Given the description of an element on the screen output the (x, y) to click on. 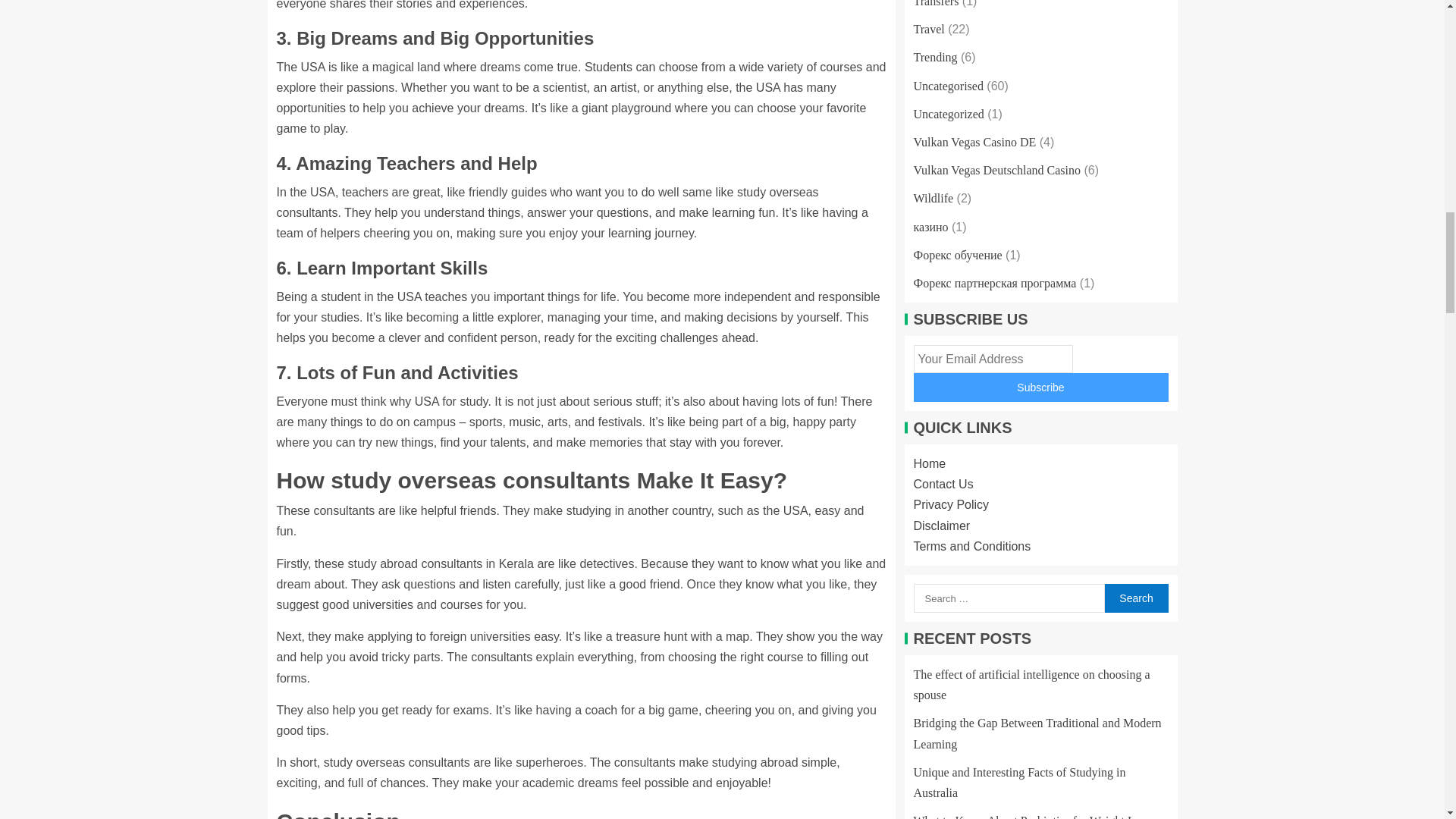
Search (1135, 597)
Search (1135, 597)
